Given the description of an element on the screen output the (x, y) to click on. 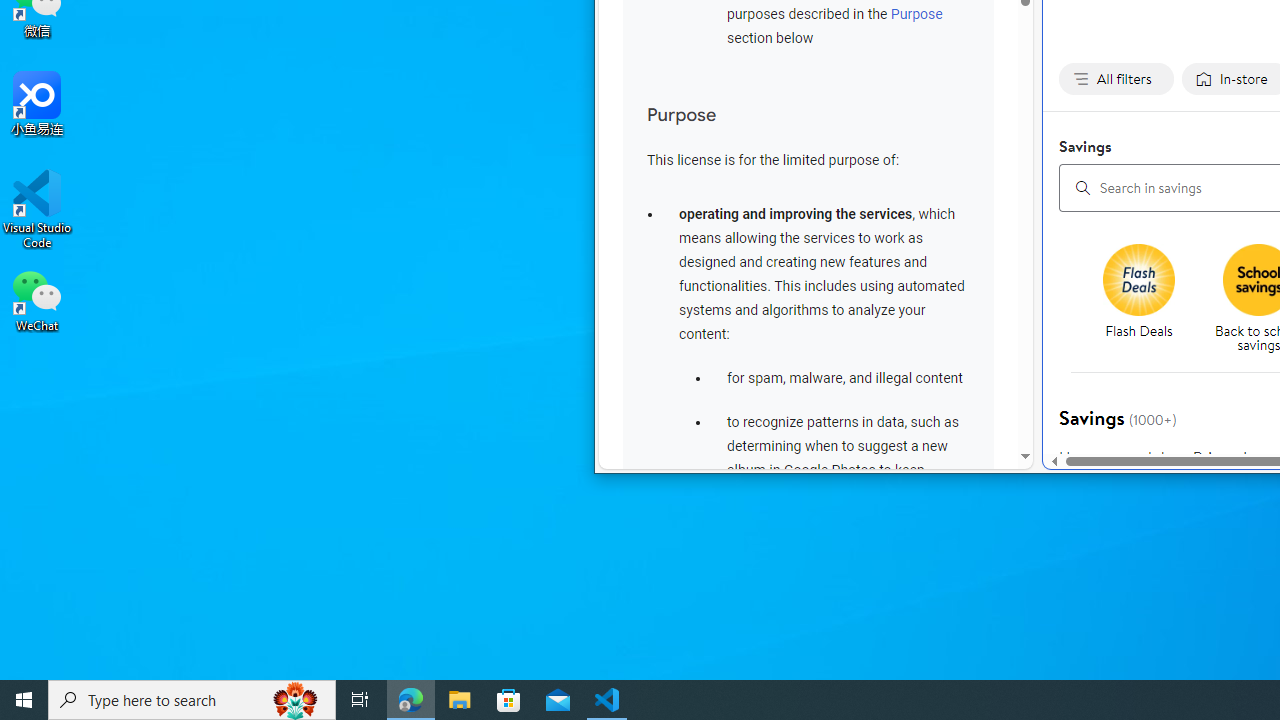
All filters none applied, activate to change (1115, 79)
File Explorer (460, 699)
